Given the description of an element on the screen output the (x, y) to click on. 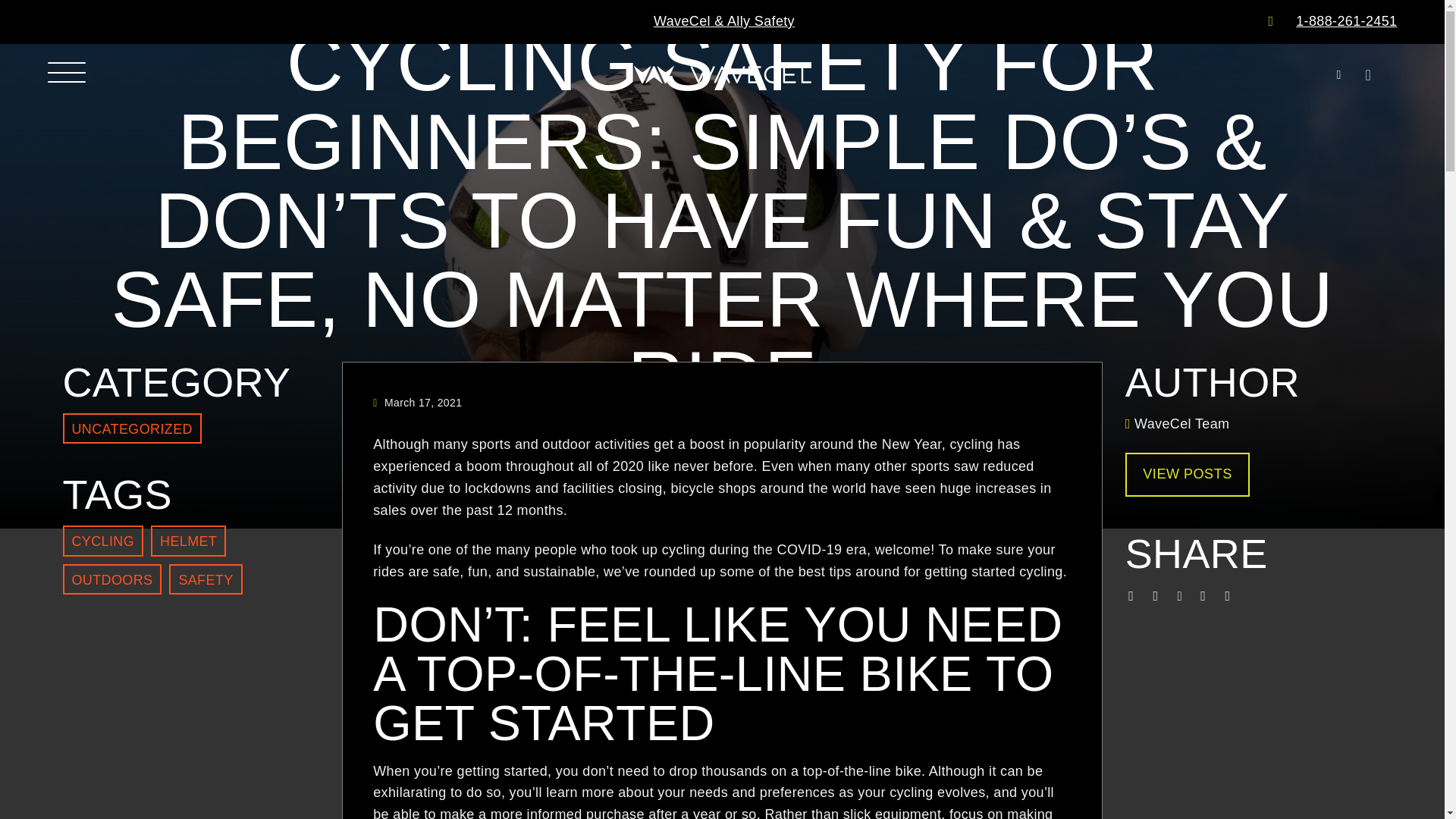
OUTDOORS (111, 579)
SAFETY (204, 579)
WaveCel (721, 74)
UNCATEGORIZED (131, 427)
HELMET (188, 540)
1-888-261-2451 (1345, 21)
VIEW POSTS (1187, 474)
CYCLING (102, 540)
